Given the description of an element on the screen output the (x, y) to click on. 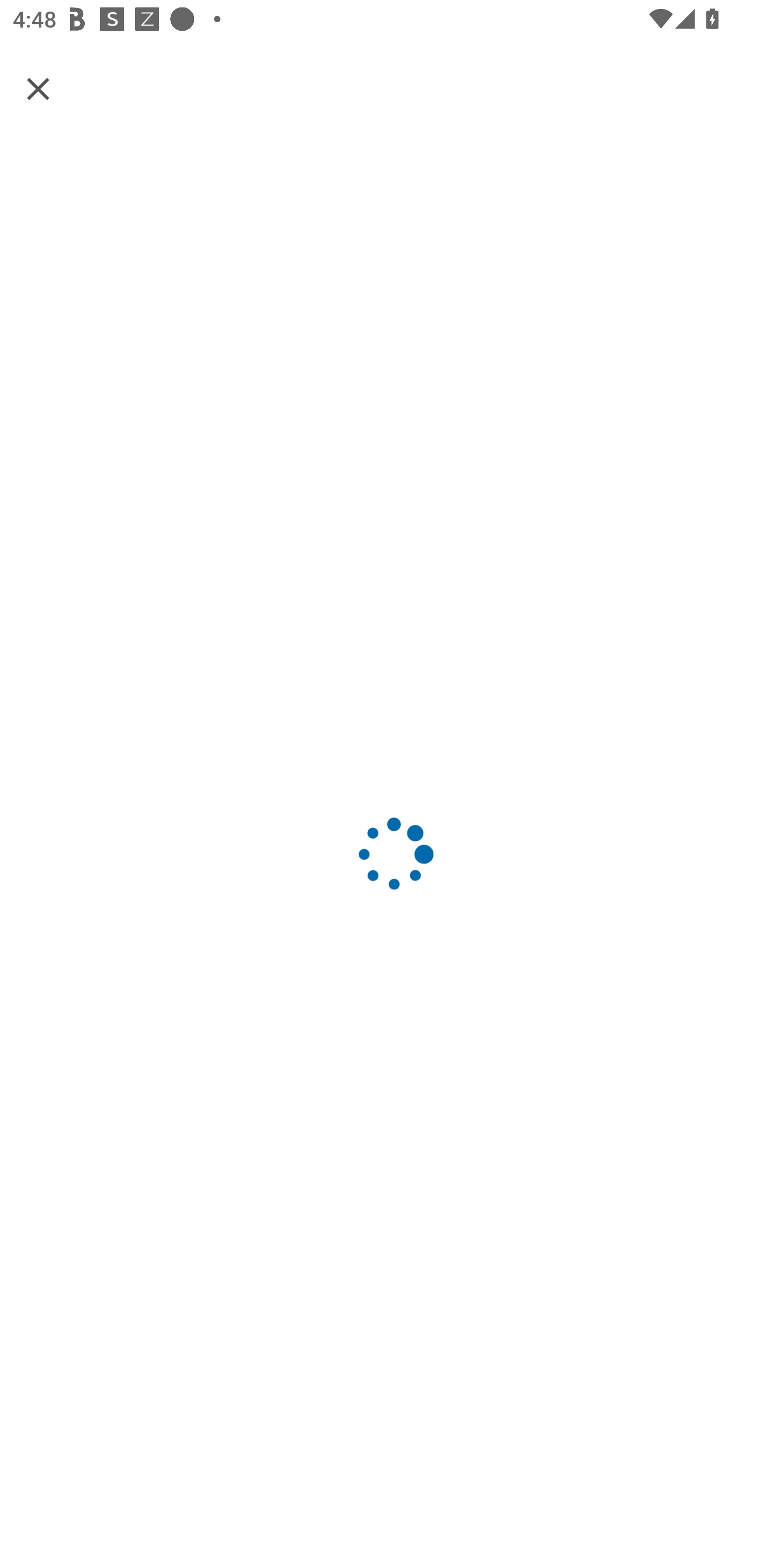
Close (38, 88)
